Given the description of an element on the screen output the (x, y) to click on. 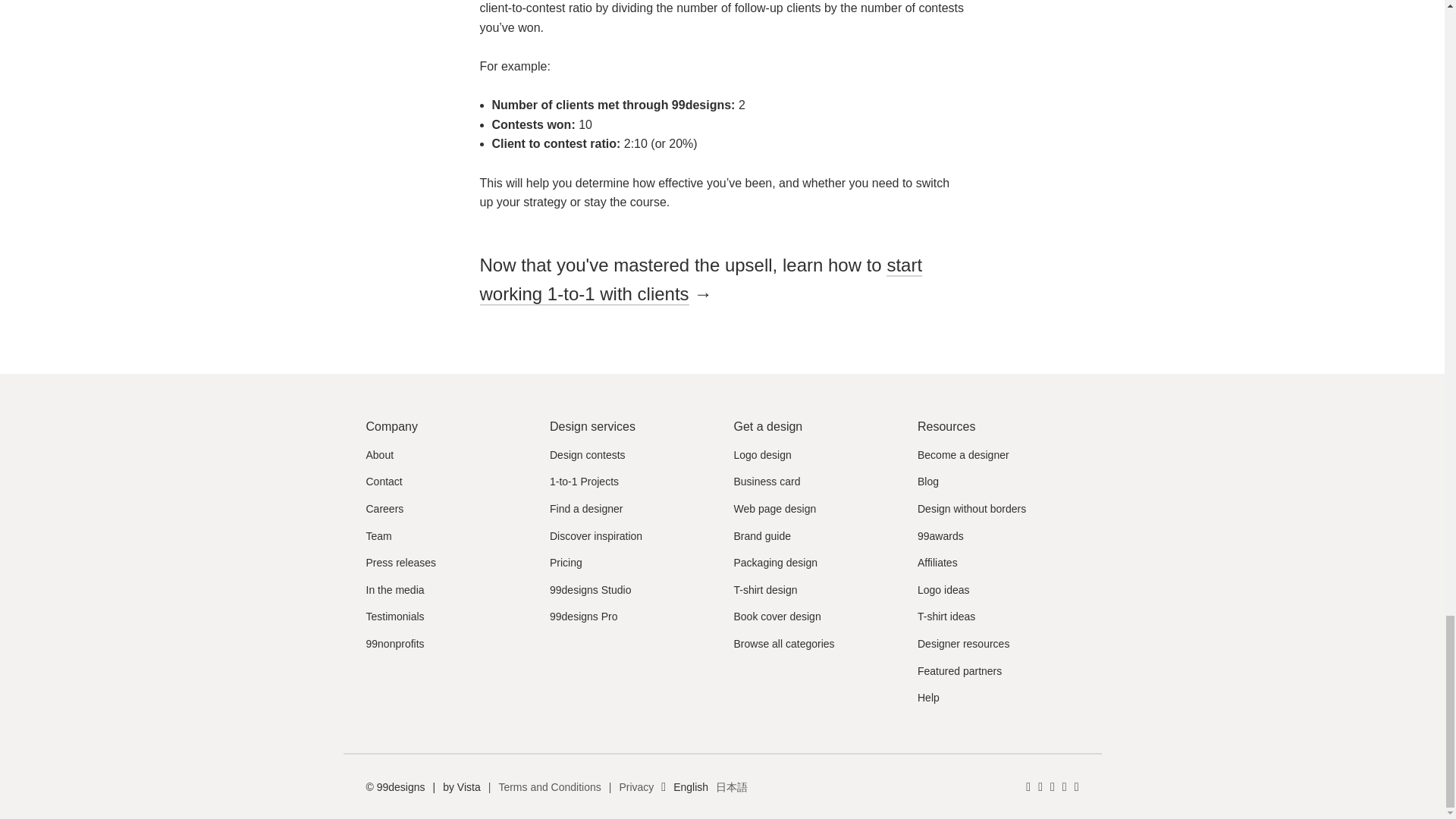
Web page design (774, 509)
Press releases (400, 563)
Careers (384, 509)
Pricing (566, 563)
99designs Studio (590, 590)
About (379, 455)
In the media (394, 590)
99designs Pro (583, 617)
Packaging design (775, 563)
Discover inspiration (596, 536)
